Given the description of an element on the screen output the (x, y) to click on. 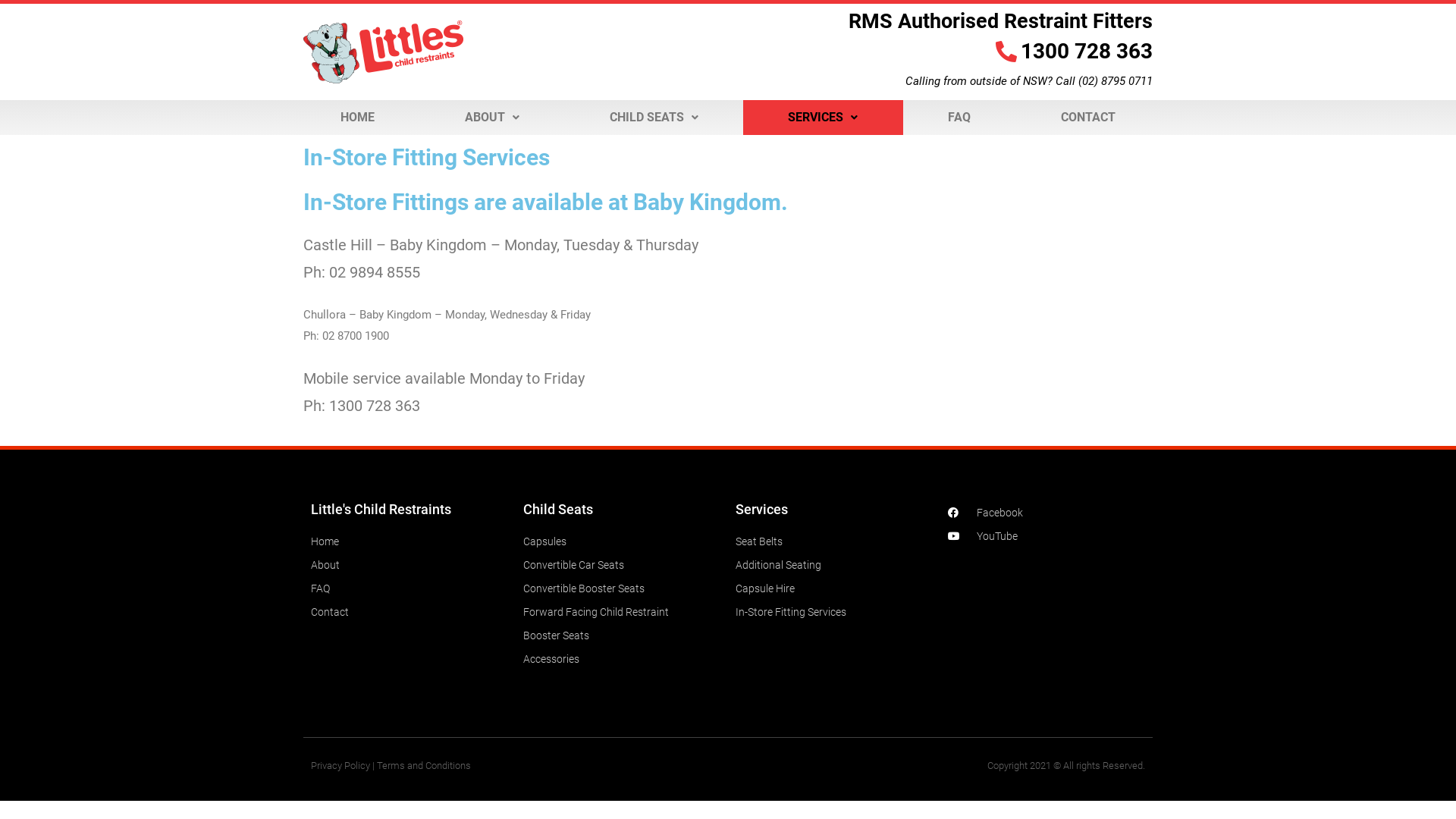
CONTACT Element type: text (1087, 117)
ABOUT Element type: text (492, 117)
Booster Seats Element type: text (621, 635)
Convertible Car Seats Element type: text (621, 564)
Additional Seating Element type: text (833, 564)
Forward Facing Child Restraint Element type: text (621, 611)
1300 728 363 Element type: text (944, 51)
CHILD SEATS Element type: text (653, 117)
Capsule Hire Element type: text (833, 588)
HOME Element type: text (357, 117)
Accessories Element type: text (621, 658)
YouTube Element type: text (1046, 536)
Terms and Conditions Element type: text (423, 765)
Capsules Element type: text (621, 541)
Seat Belts Element type: text (833, 541)
Convertible Booster Seats Element type: text (621, 588)
FAQ Element type: text (959, 117)
In-Store Fitting Services Element type: text (833, 611)
About Element type: text (409, 564)
FAQ Element type: text (409, 588)
SERVICES Element type: text (823, 117)
Facebook Element type: text (1046, 512)
Privacy Policy Element type: text (340, 765)
Contact Element type: text (409, 611)
Home Element type: text (409, 541)
(02) 8795 0711 Element type: text (1115, 80)
